Given the description of an element on the screen output the (x, y) to click on. 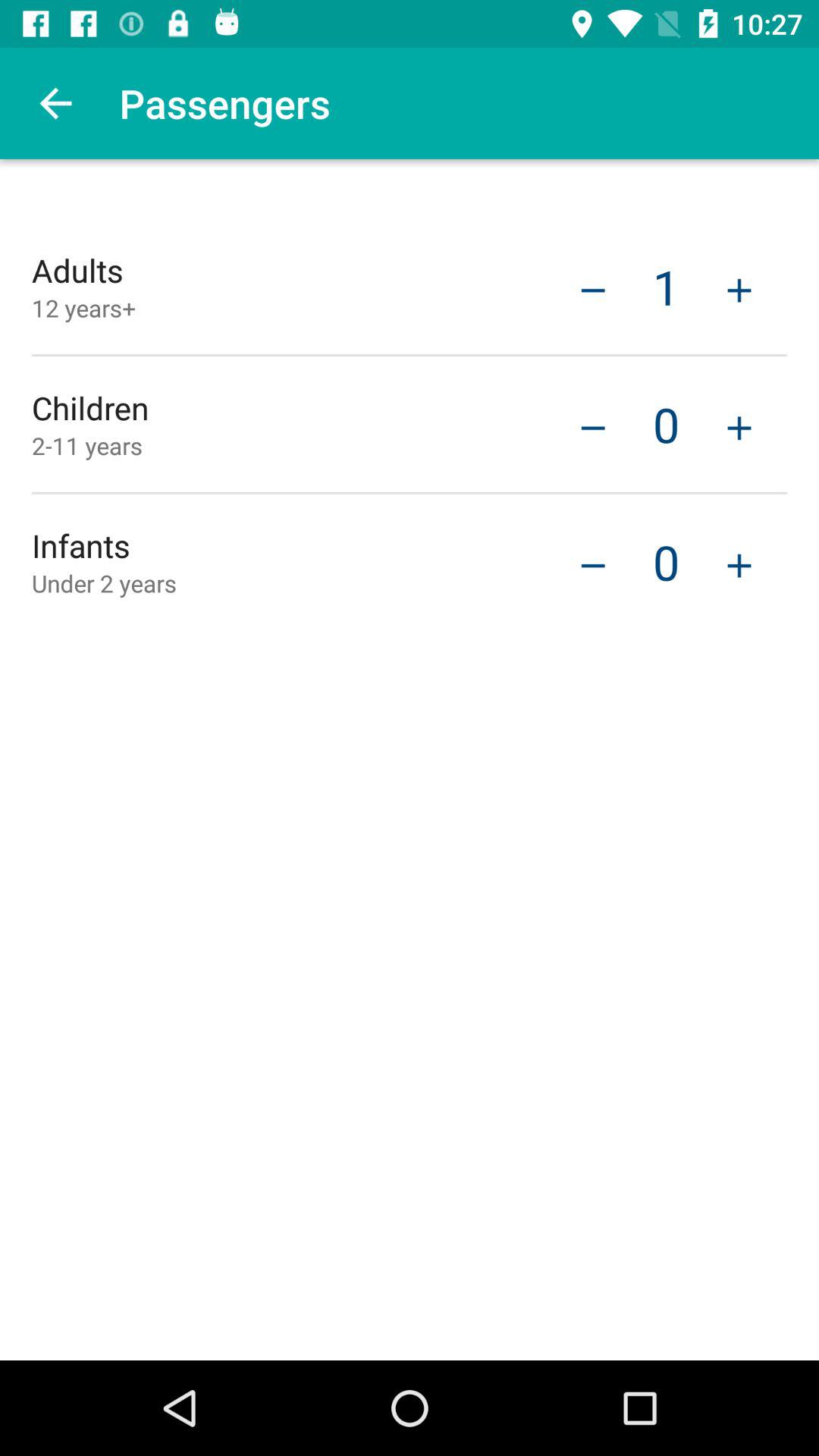
switch autoplay option (739, 288)
